Given the description of an element on the screen output the (x, y) to click on. 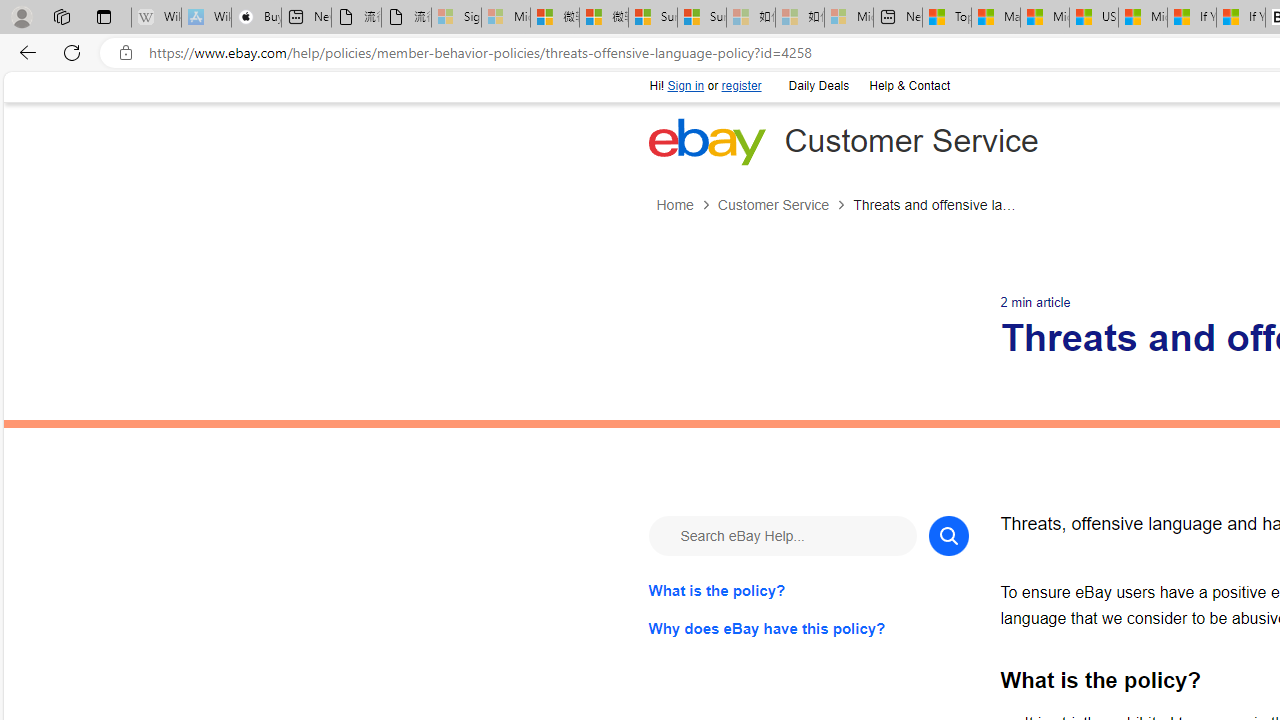
Refresh (72, 52)
Microsoft Start (1142, 17)
New tab (897, 17)
Customer Service (772, 205)
Home (674, 205)
Microsoft Services Agreement - Sleeping (505, 17)
Why does eBay have this policy? (807, 628)
Why does eBay have this policy? (807, 628)
Wikipedia - Sleeping (155, 17)
